Given the description of an element on the screen output the (x, y) to click on. 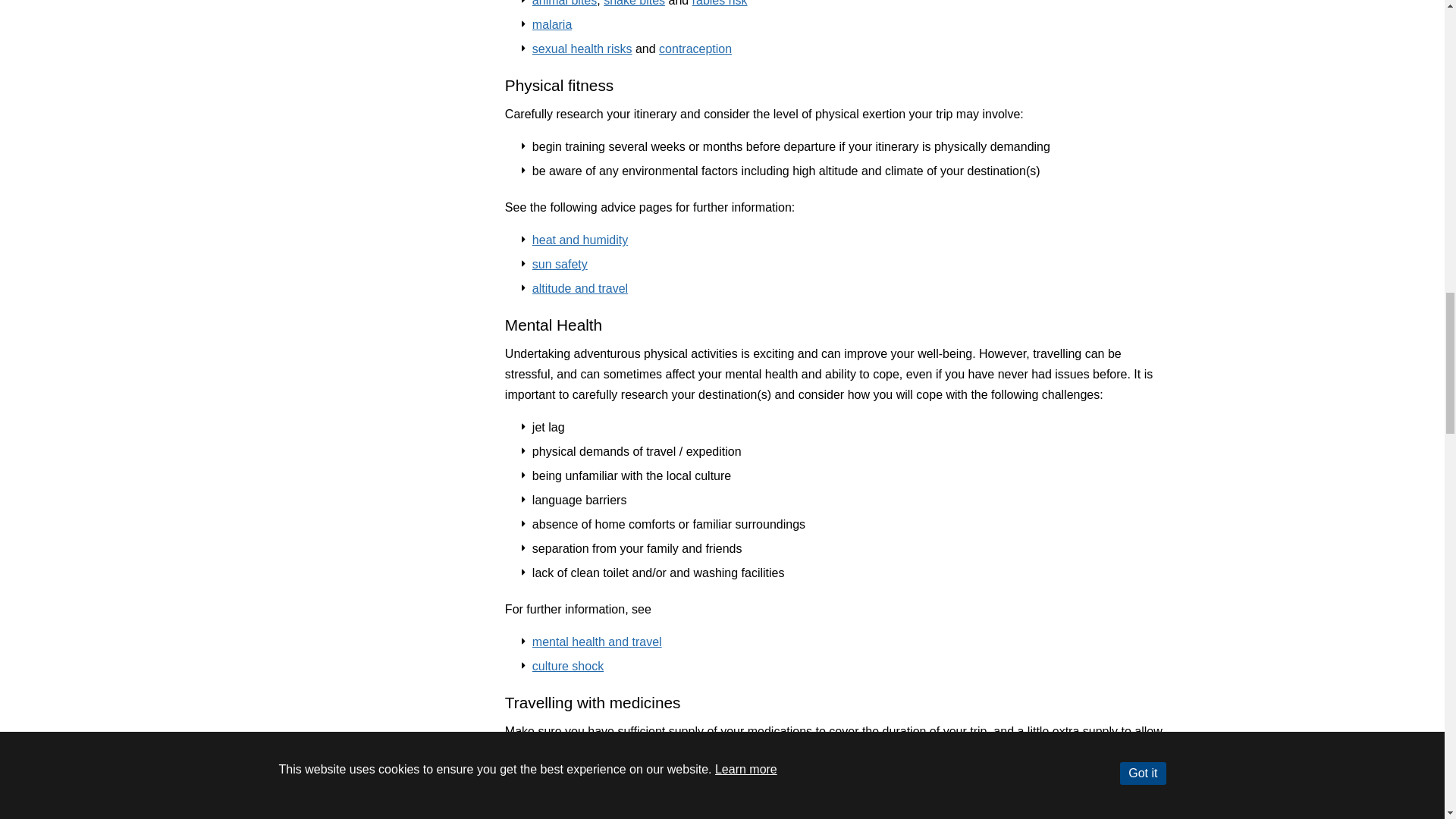
Animal Bites (564, 3)
Snake Bites (634, 3)
Rabies (720, 3)
